Given the description of an element on the screen output the (x, y) to click on. 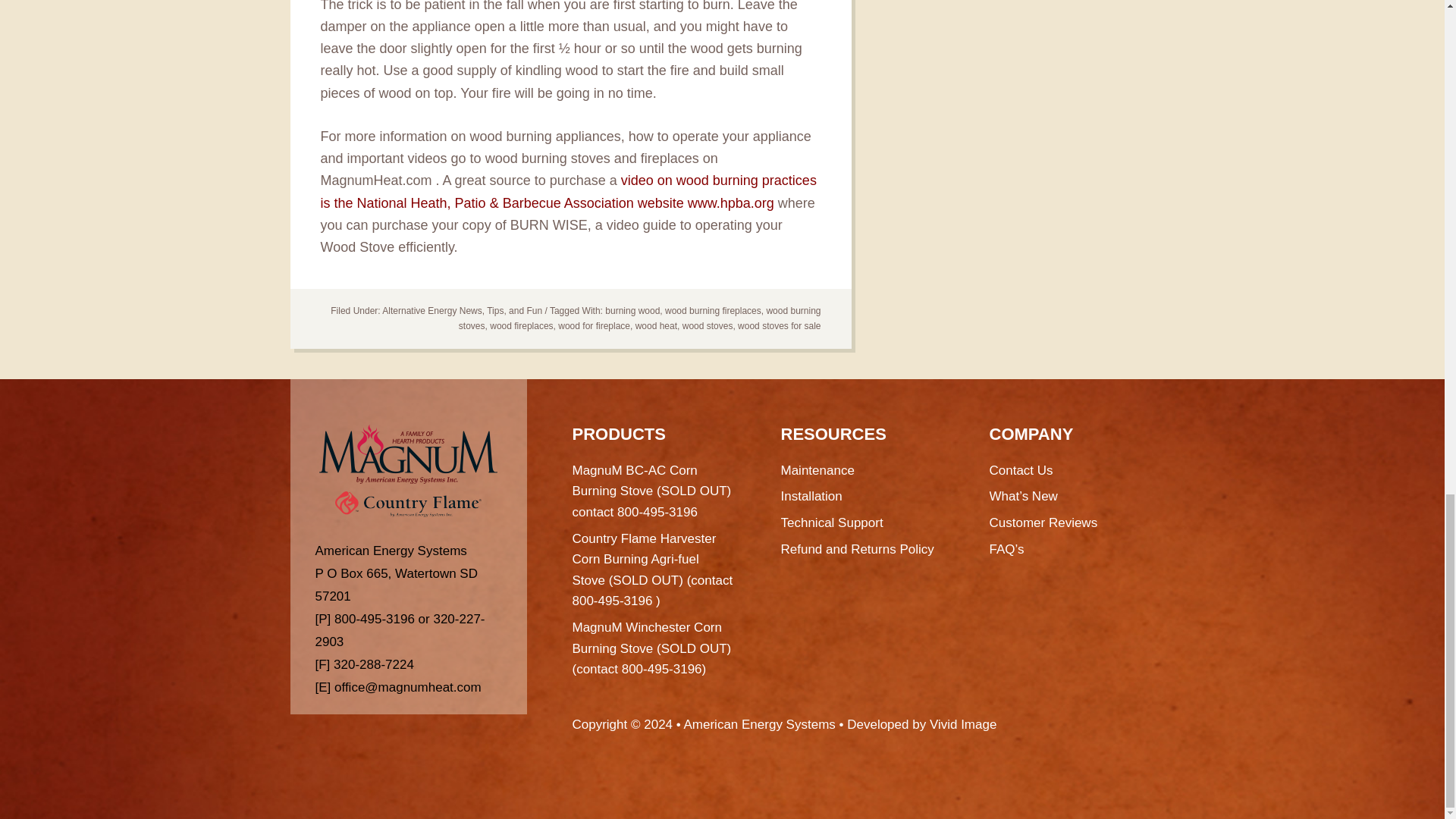
burning wood (632, 310)
wood heat (655, 326)
wood burning stoves (639, 318)
wood burning fireplaces (713, 310)
Alternative Energy News, Tips, and Fun (461, 310)
wood for fireplace (593, 326)
Test (407, 503)
wood stoves (707, 326)
Test (407, 454)
wood fireplaces (521, 326)
